Given the description of an element on the screen output the (x, y) to click on. 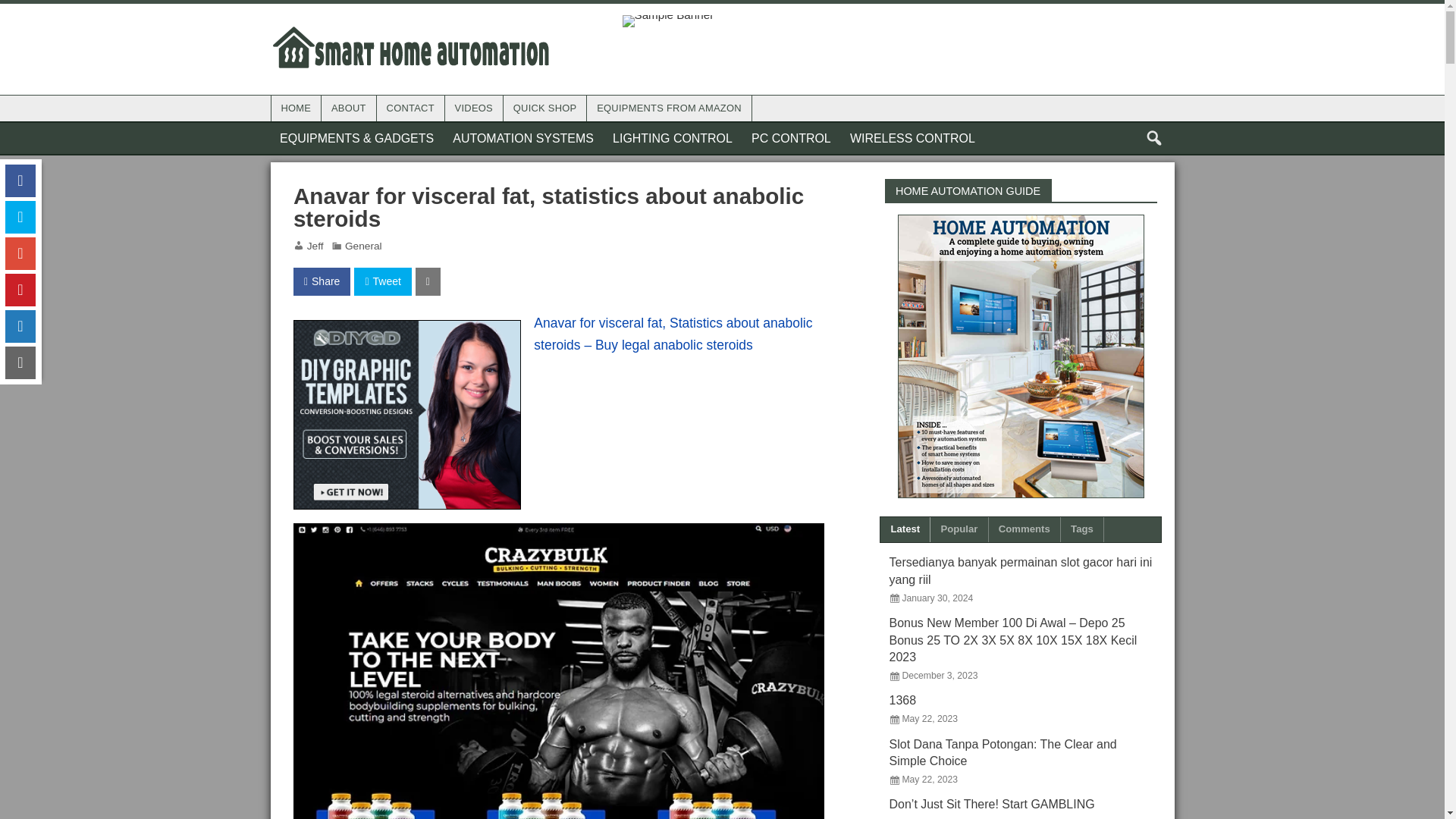
EQUIPMENTS FROM AMAZON (668, 108)
LIGHTING CONTROL (673, 137)
VIDEOS (473, 108)
ABOUT (348, 108)
General (363, 245)
Share On Facebook (322, 281)
PC CONTROL (790, 137)
Tweet on Twitter (381, 281)
View all posts by Jeff (315, 245)
Smart Home Automation (409, 28)
Marketing Graphics (407, 414)
Jeff (315, 245)
Tweet (381, 281)
WIRELESS CONTROL (912, 137)
